Given the description of an element on the screen output the (x, y) to click on. 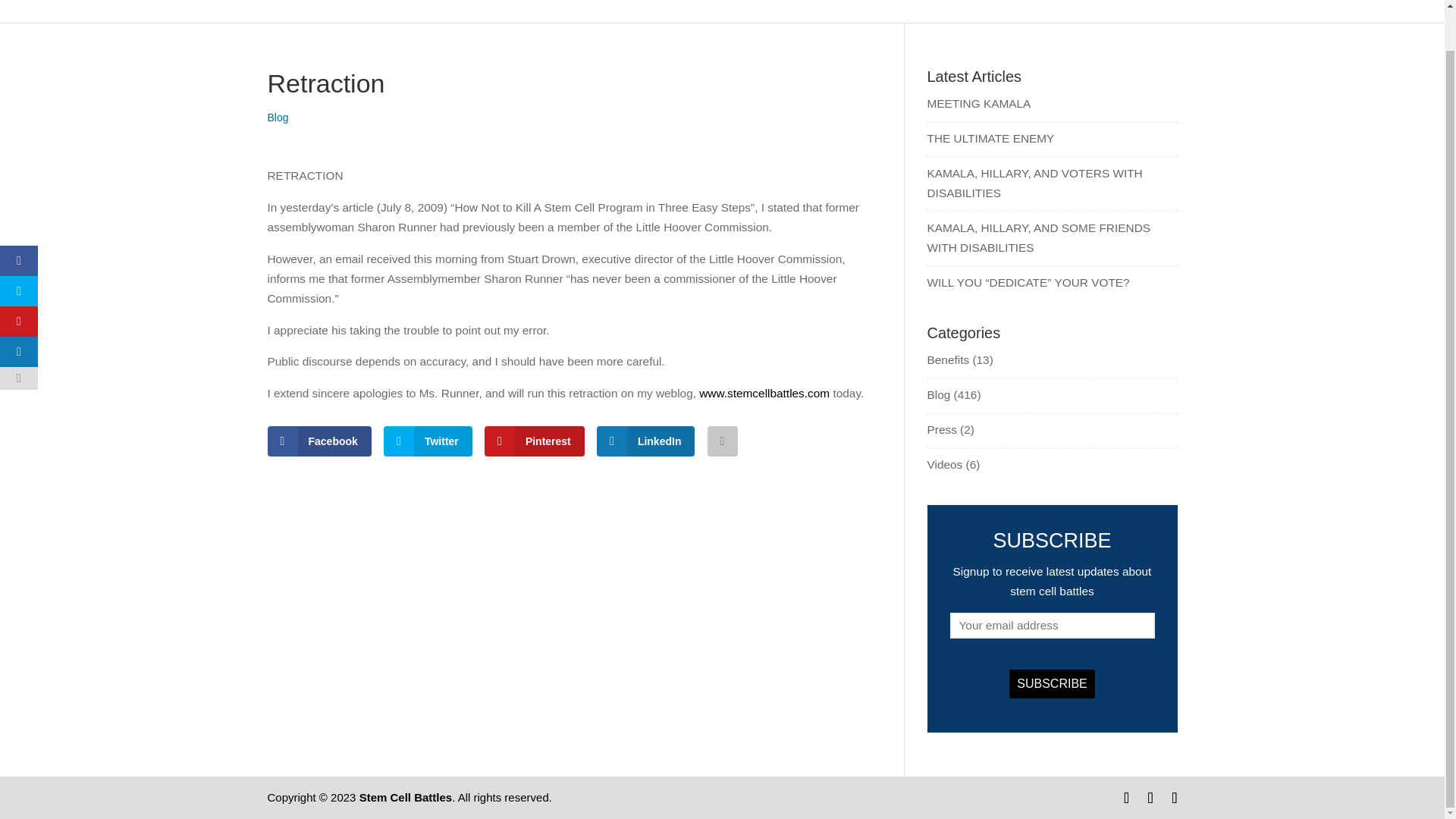
KAMALA, HILLARY, AND SOME FRIENDS WITH DISABILITIES (1038, 237)
SUBSCRIBE (1051, 683)
Blog (277, 117)
Home (656, 11)
About Me (723, 11)
Twitter (427, 440)
Contact (1127, 11)
THE ULTIMATE ENEMY (990, 137)
SUBSCRIBE (1051, 683)
LinkedIn (645, 440)
